Given the description of an element on the screen output the (x, y) to click on. 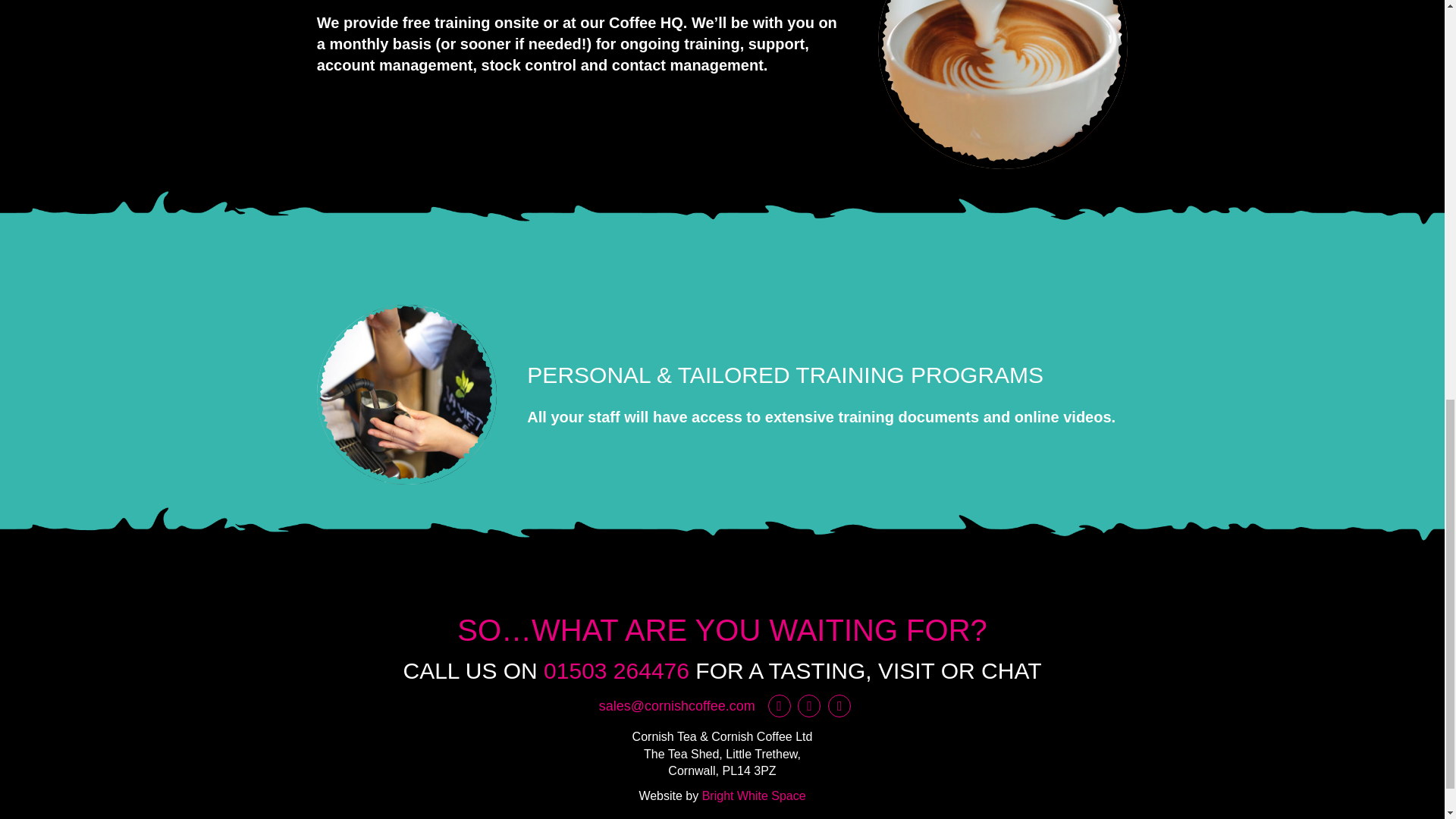
Page 10 (582, 44)
Page 10 (826, 394)
Bright White Space (753, 795)
01503 264476 (615, 670)
Page 10 (826, 416)
